Given the description of an element on the screen output the (x, y) to click on. 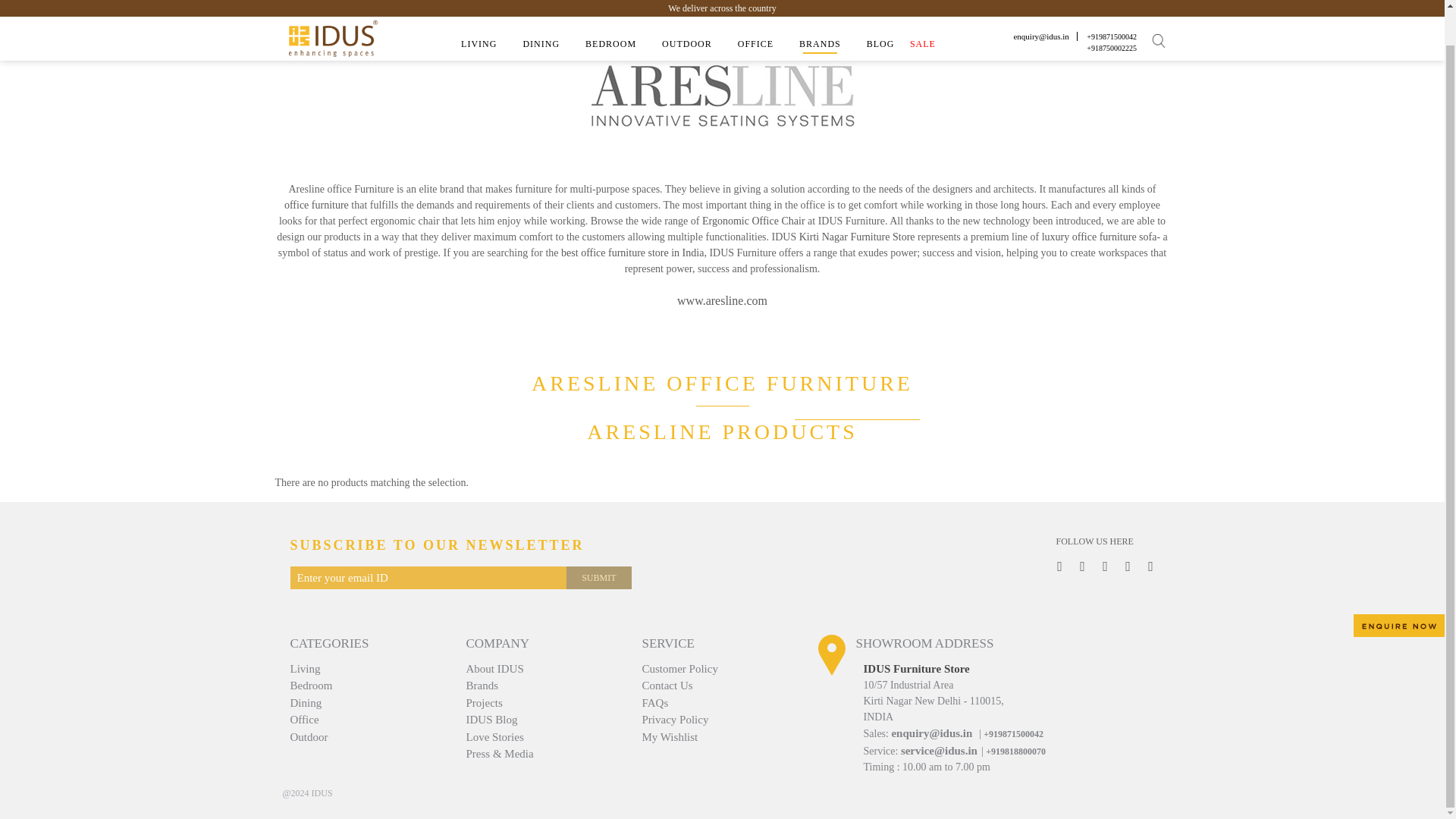
Search Furnitures (1161, 6)
LIVING (478, 9)
BRANDS (819, 9)
Call IDUS Furniture (1111, 11)
OFFICE (755, 9)
OUTDOOR (687, 9)
DINING (540, 9)
Call IDUS Furniture (1111, 2)
Search Furnitures (1158, 6)
Email IDUS Furniture (1040, 3)
BEDROOM (610, 9)
Living Room Furniture (478, 9)
